Given the description of an element on the screen output the (x, y) to click on. 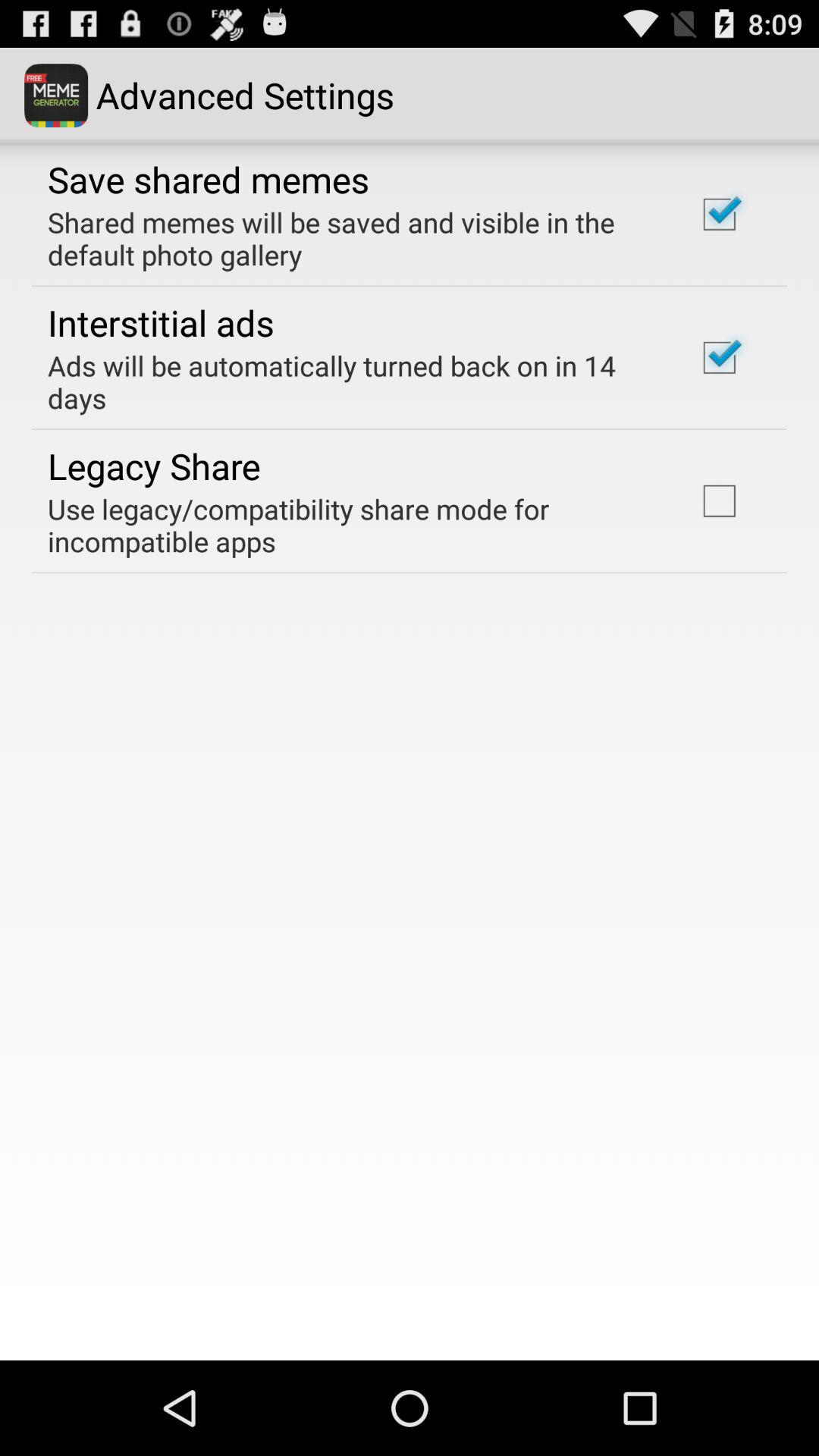
turn off app below legacy share icon (351, 525)
